Given the description of an element on the screen output the (x, y) to click on. 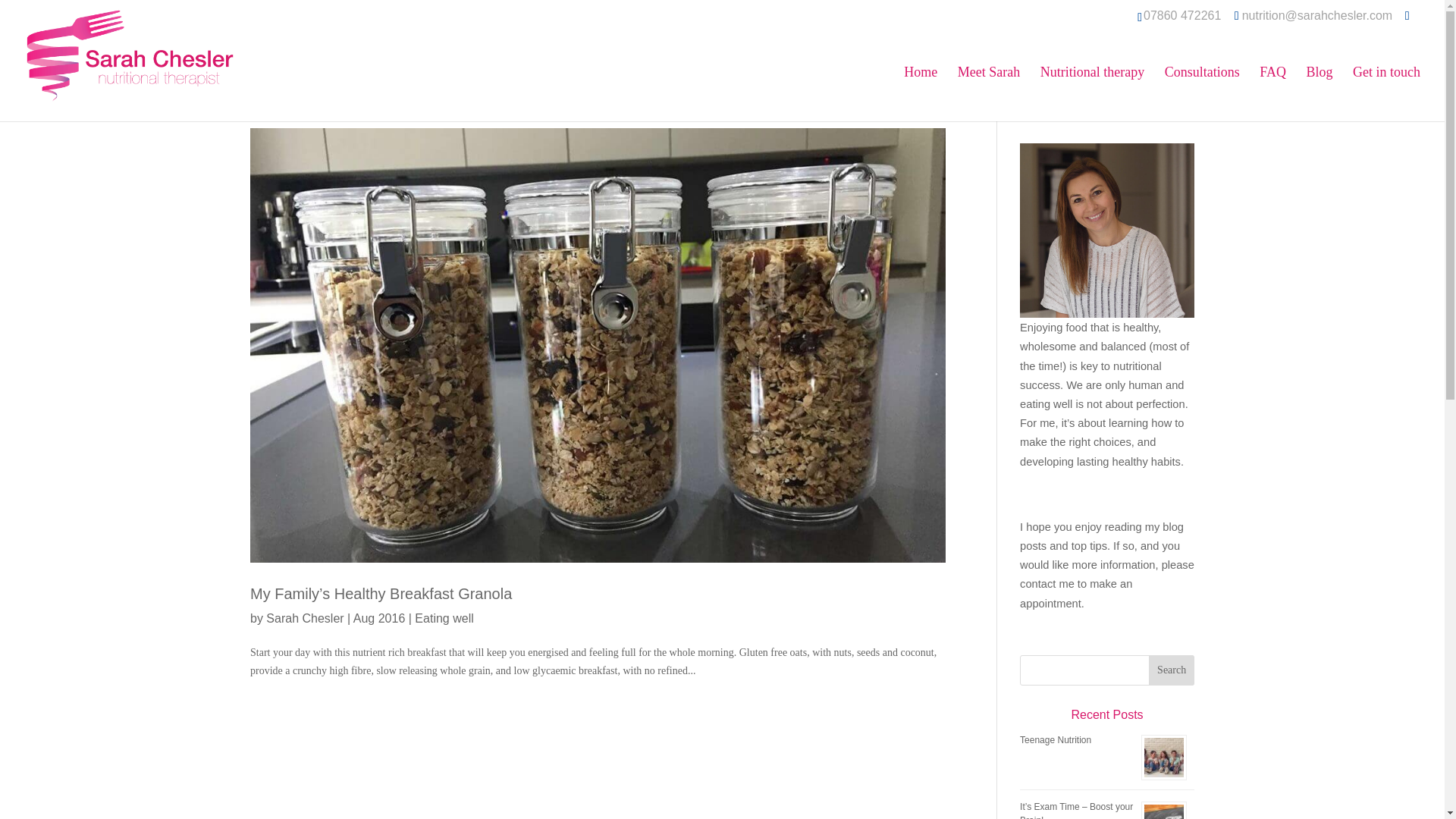
Consultations (1202, 93)
Search (1170, 670)
Search (1170, 670)
Get in touch (1386, 93)
Posts by Sarah Chesler (304, 617)
Teenage Nutrition (1055, 739)
Sarah Chesler (304, 617)
Eating well (443, 617)
Nutritional therapy (1092, 93)
Meet Sarah (989, 93)
